Given the description of an element on the screen output the (x, y) to click on. 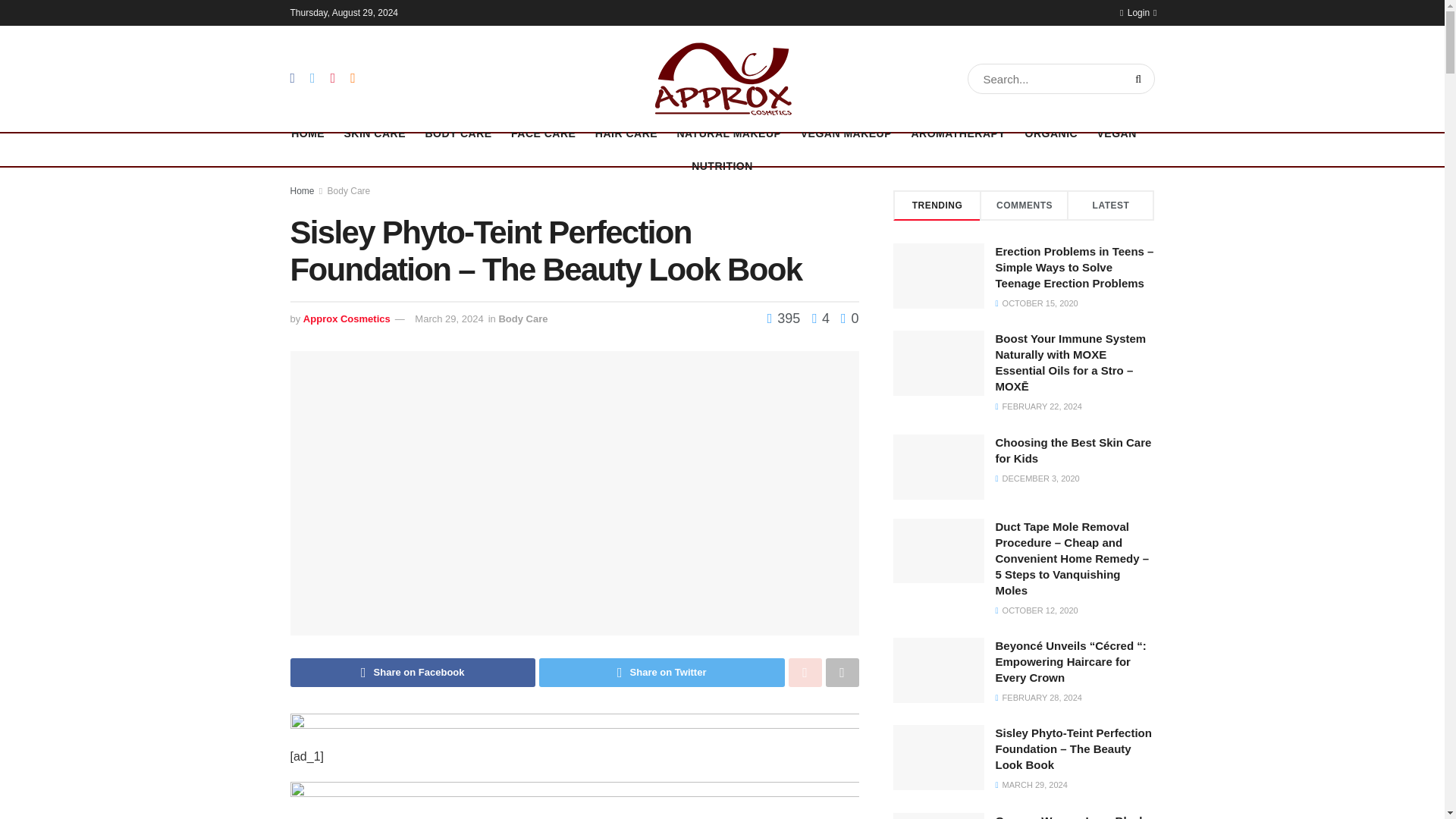
NUTRITION (721, 165)
SKIN CARE (374, 133)
HOME (307, 133)
Body Care (349, 190)
BODY CARE (458, 133)
AROMATHERAPY (958, 133)
Body Care (522, 318)
VEGAN (1117, 133)
ORGANIC (1051, 133)
NATURAL MAKEUP (728, 133)
